Given the description of an element on the screen output the (x, y) to click on. 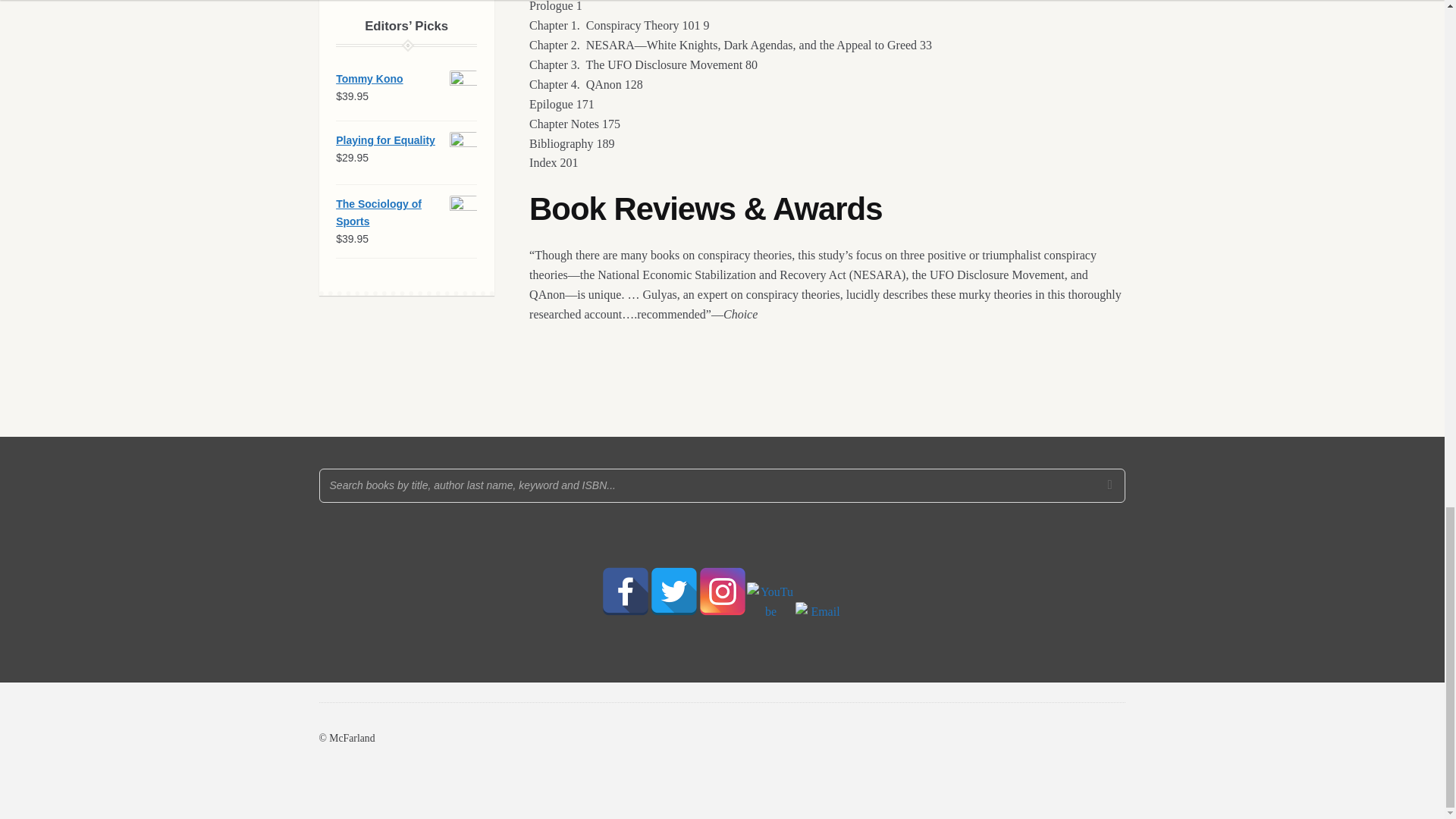
YouTube (769, 606)
Facebook (624, 591)
Twitter (673, 591)
Instagram (721, 591)
Email (818, 625)
